Given the description of an element on the screen output the (x, y) to click on. 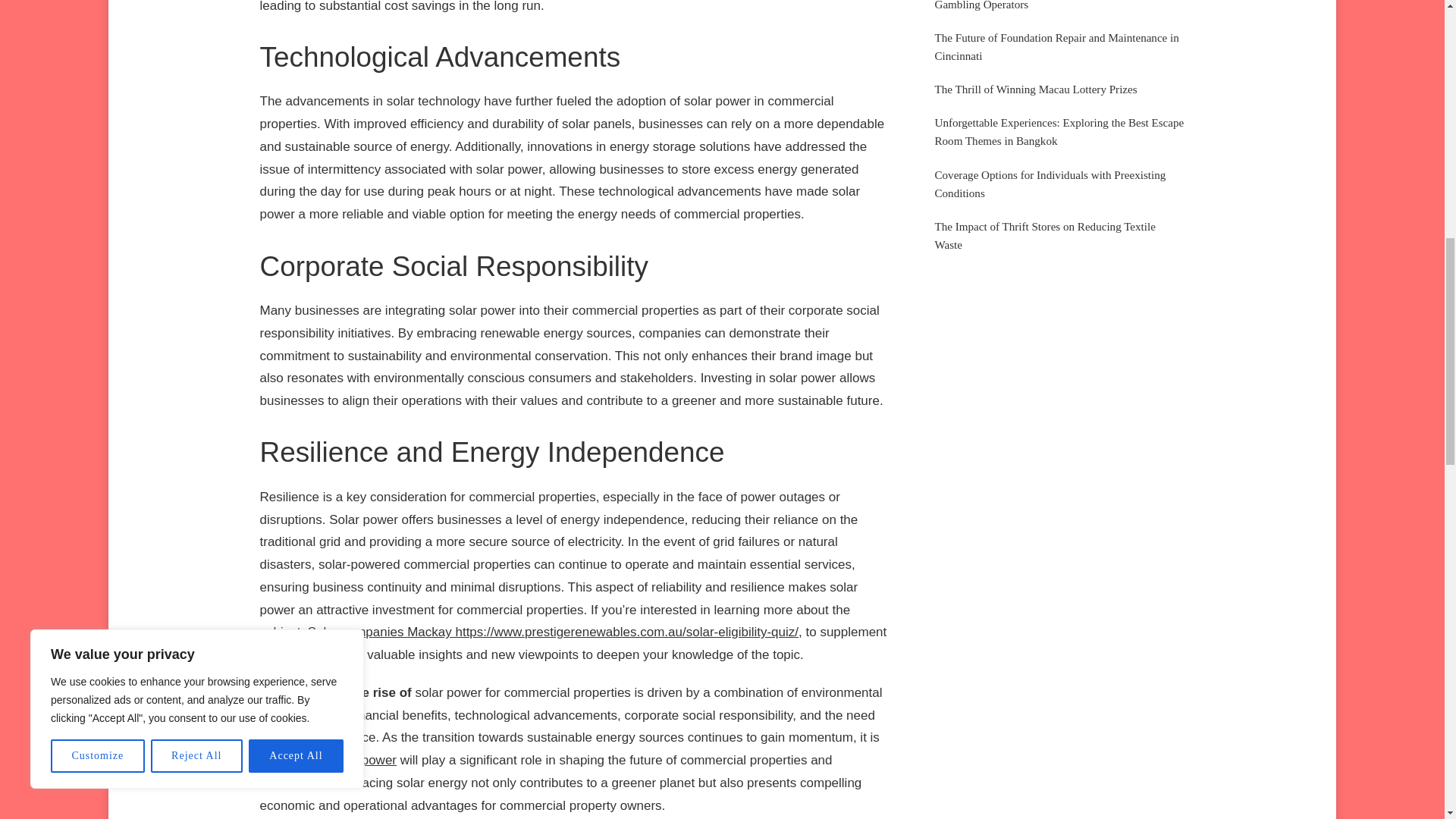
evident (280, 759)
solar power (363, 759)
